Given the description of an element on the screen output the (x, y) to click on. 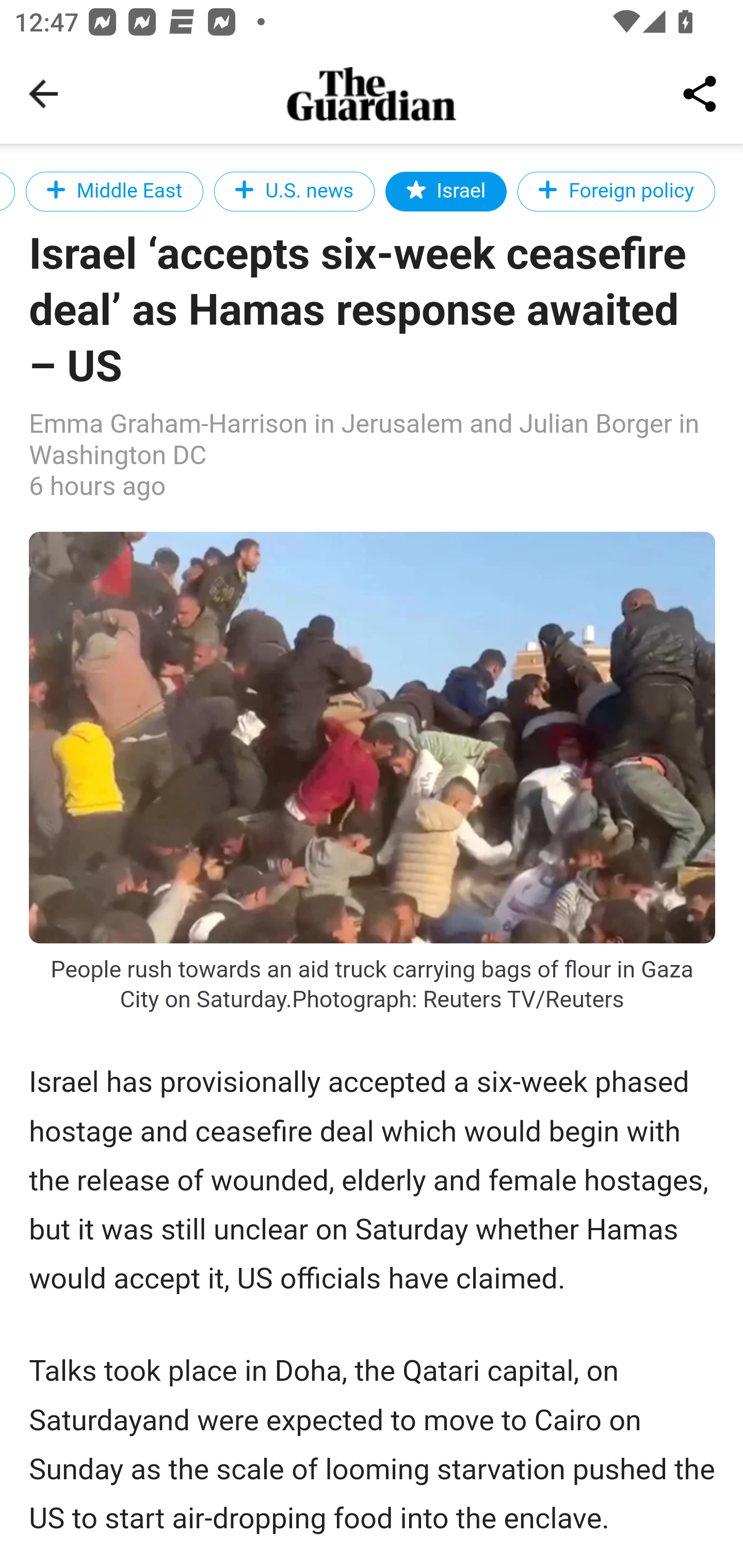
Middle East (114, 191)
U.S. news (294, 191)
Israel (445, 191)
Foreign policy (616, 191)
